Given the description of an element on the screen output the (x, y) to click on. 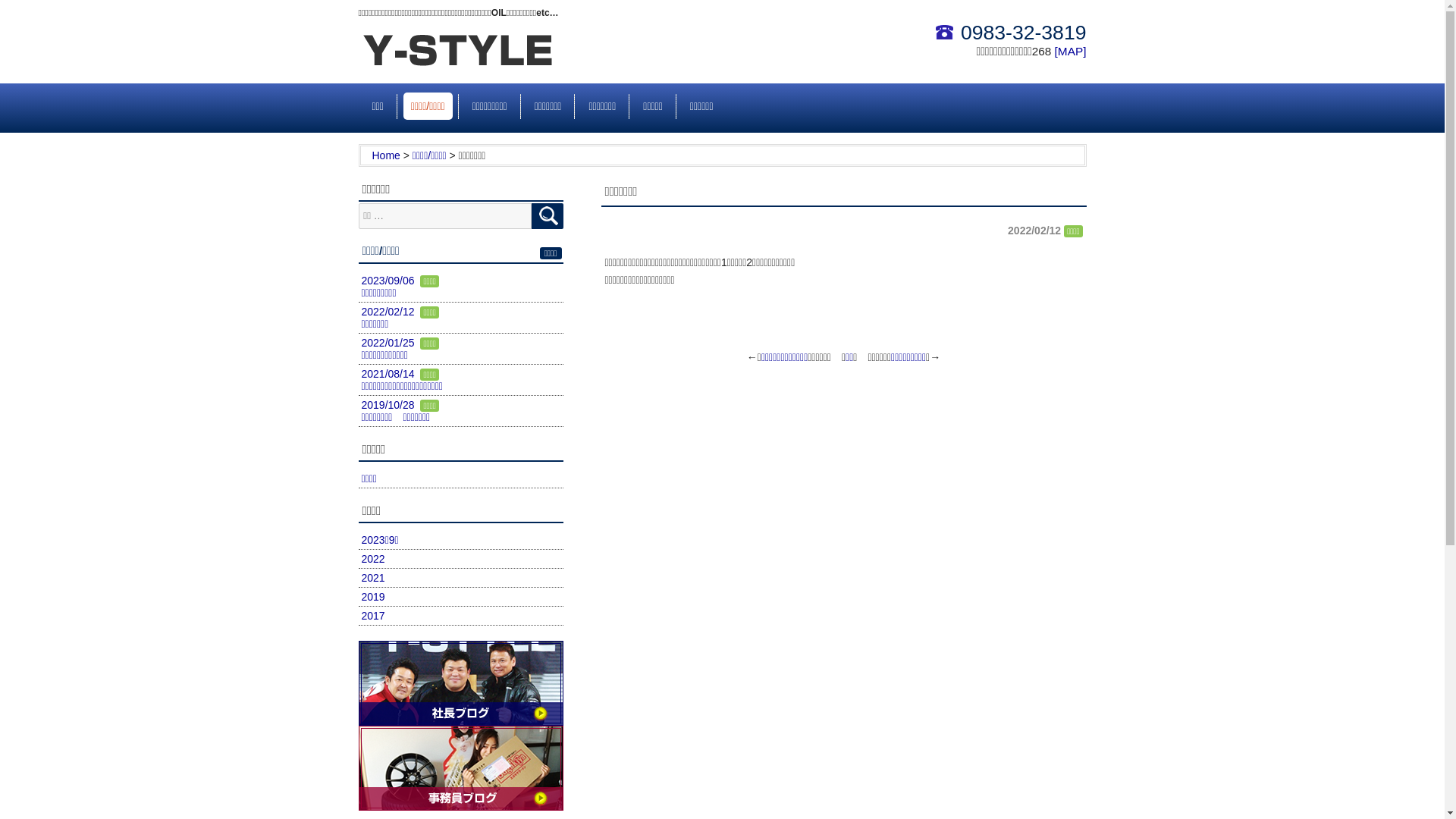
2019 Element type: text (372, 596)
[MAP] Element type: text (1070, 50)
2022 Element type: text (372, 558)
2021 Element type: text (372, 577)
2017 Element type: text (372, 615)
Home Element type: text (385, 155)
